Given the description of an element on the screen output the (x, y) to click on. 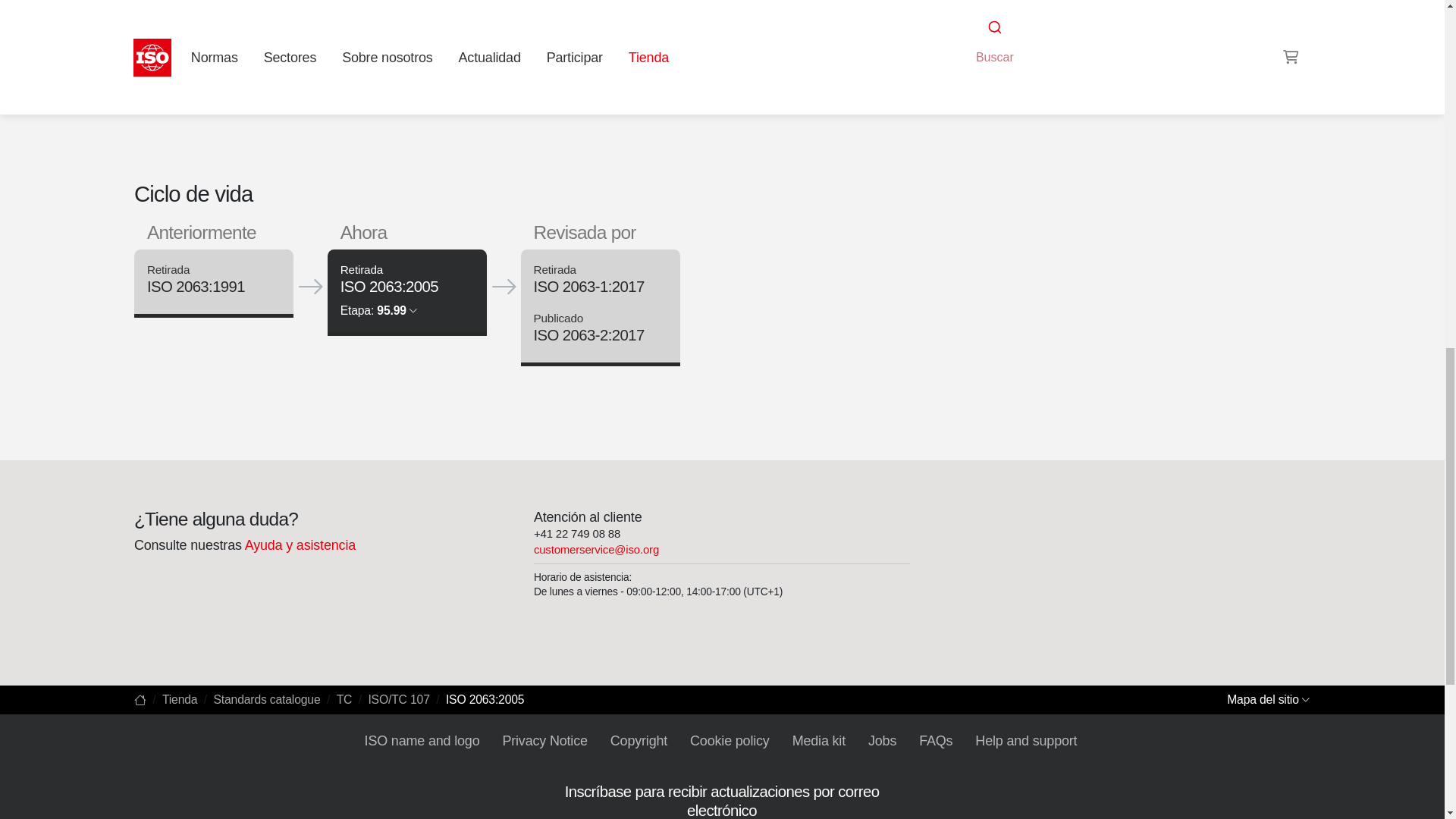
25.220.20 (997, 8)
Etapa: 95.99 (377, 309)
ISO 2063:1991 (195, 286)
Surface treatment (997, 8)
Metallic coatings (1063, 8)
25.220.40 (1063, 8)
RSS (956, 38)
